Given the description of an element on the screen output the (x, y) to click on. 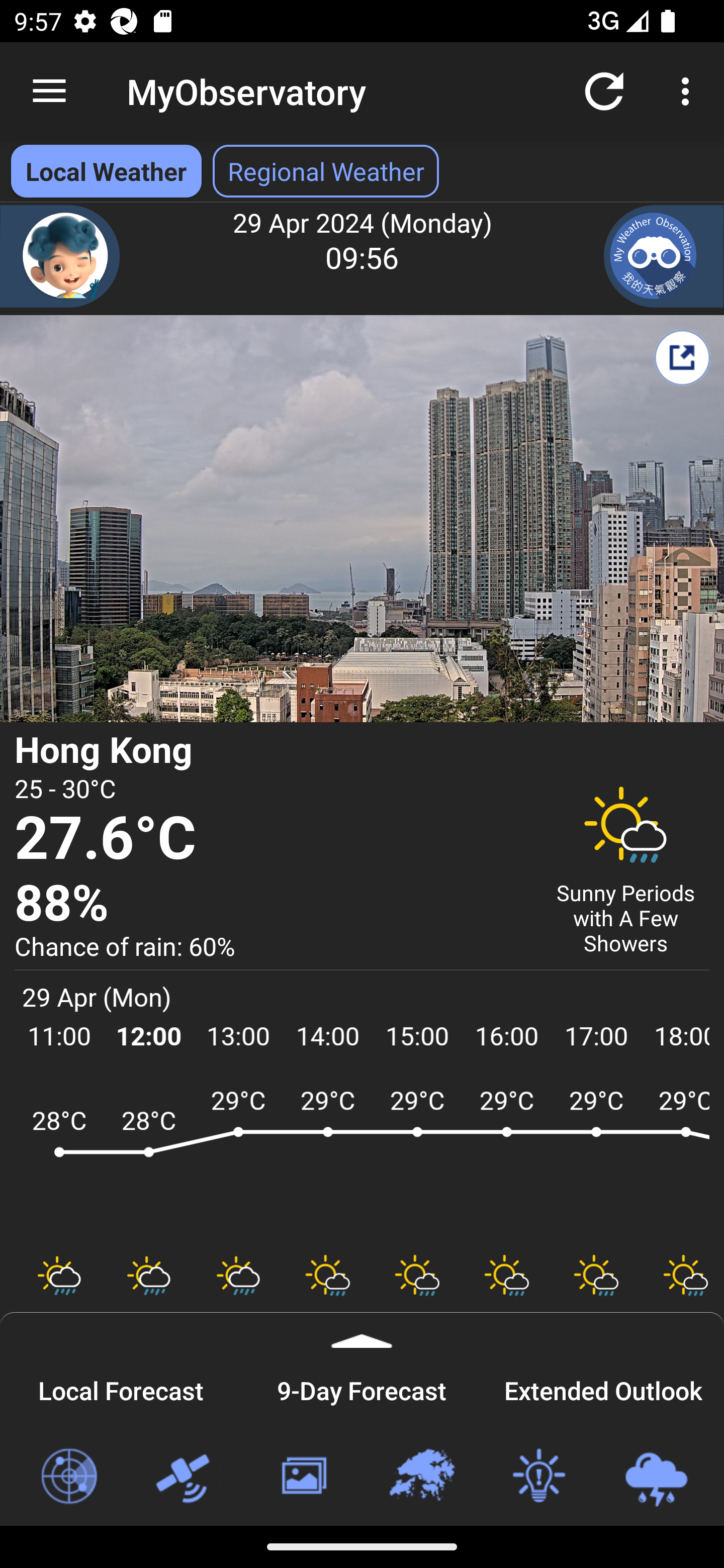
Navigate up (49, 91)
Refresh (604, 90)
More options (688, 90)
Local Weather Local Weather selected (105, 170)
Regional Weather Select Regional Weather (325, 170)
Chatbot (60, 256)
My Weather Observation (663, 256)
Share My Weather Report (681, 357)
27.6°C Temperature
27.6 degree Celsius (270, 839)
88% Relative Humidity
88 percent (270, 903)
ARWF (361, 1160)
Expand (362, 1330)
Local Forecast (120, 1387)
Extended Outlook (603, 1387)
Radar Images (68, 1476)
Satellite Images (185, 1476)
Weather Photos (302, 1476)
Regional Weather (420, 1476)
Weather Tips (537, 1476)
Loc-based Rain & Lightning Forecast (655, 1476)
